Given the description of an element on the screen output the (x, y) to click on. 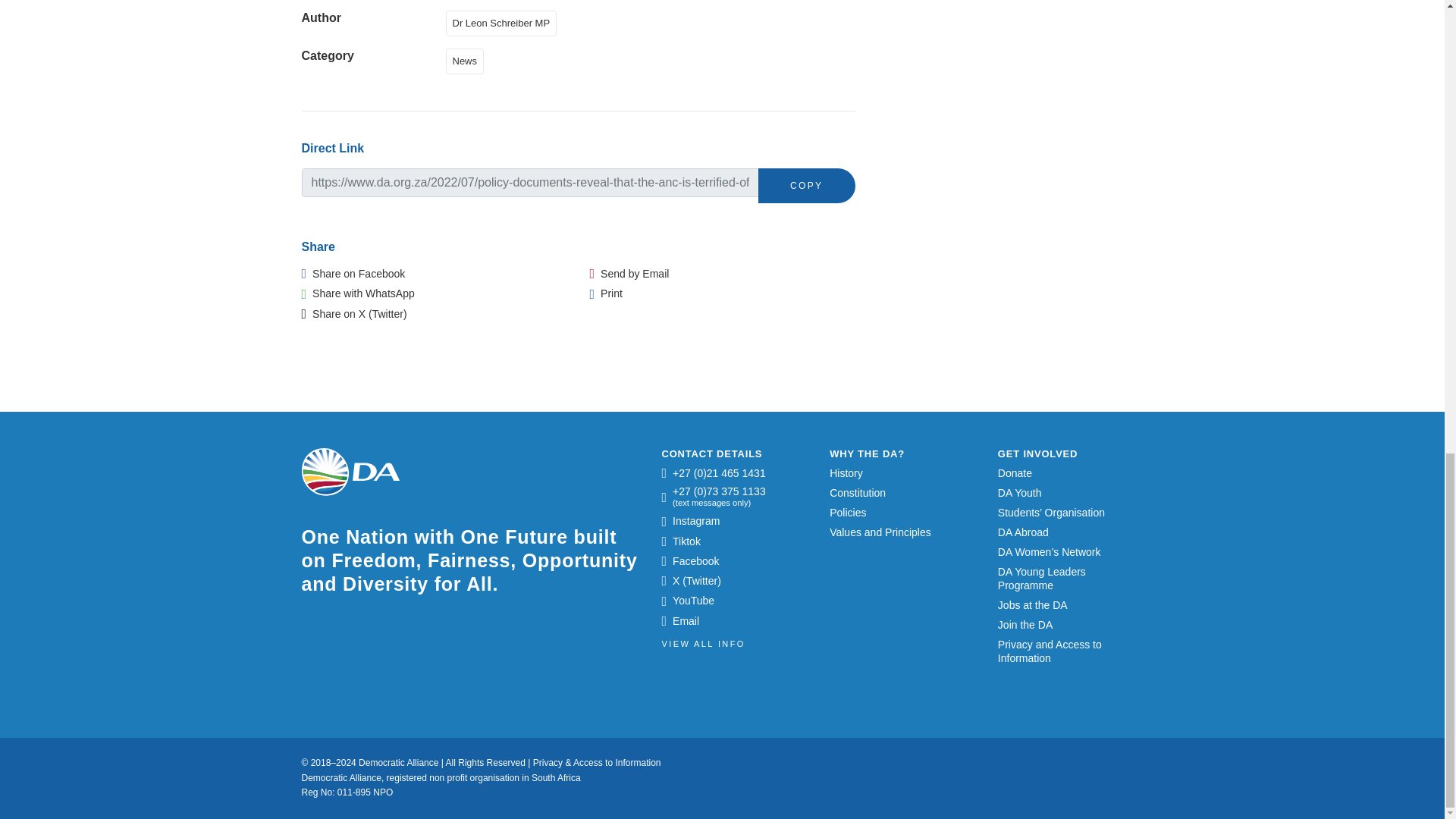
Send by Email (629, 273)
Share with WhatsApp (357, 293)
News (467, 60)
COPY (807, 185)
Democratic Alliance Logo (350, 471)
Share on Facebook (353, 273)
